Given the description of an element on the screen output the (x, y) to click on. 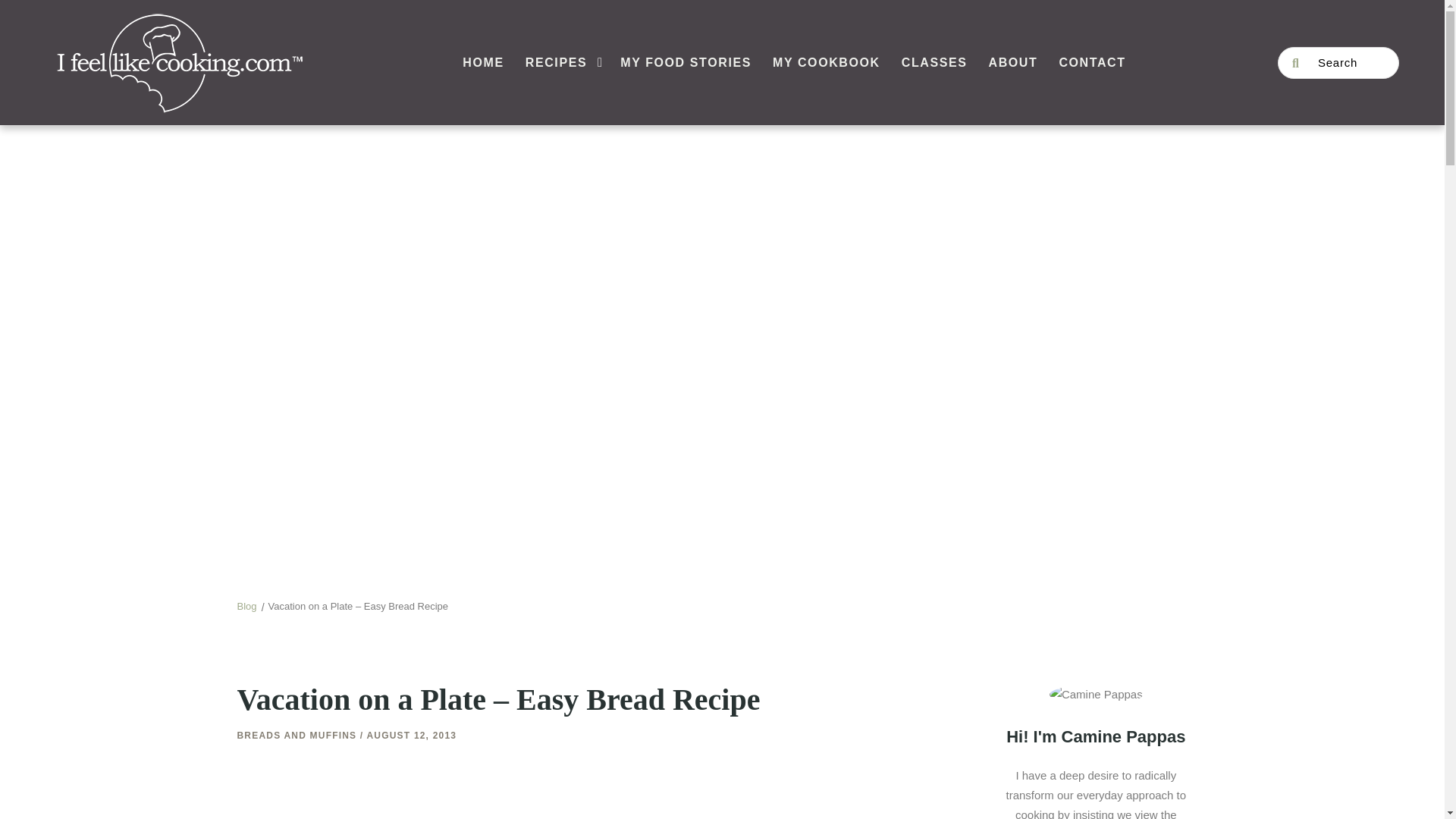
MY COOKBOOK (826, 62)
MY FOOD STORIES (685, 62)
